Given the description of an element on the screen output the (x, y) to click on. 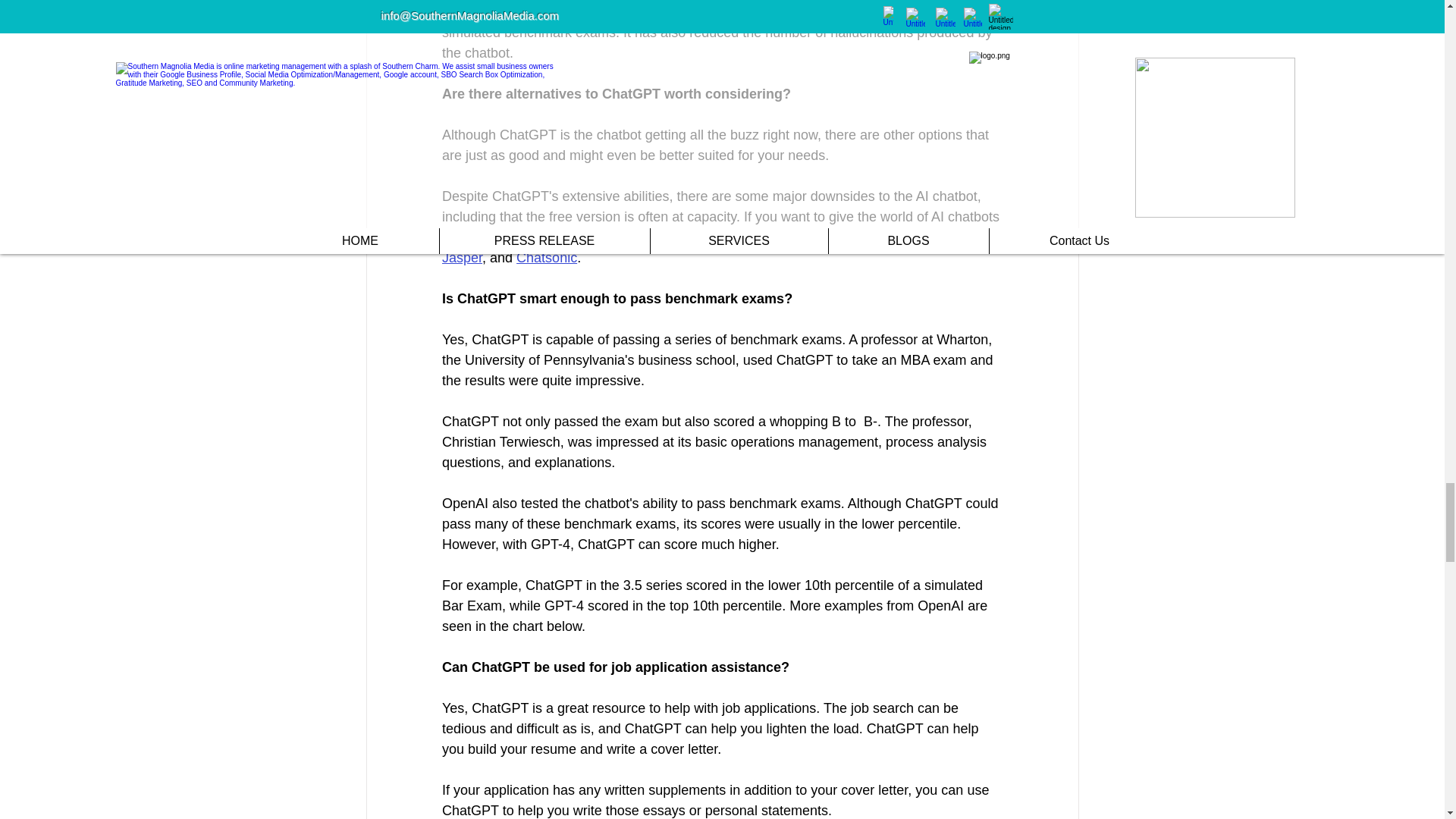
Chatsonic (546, 257)
YouChat (965, 237)
Jasper (461, 257)
Bing Chat (902, 237)
